Given the description of an element on the screen output the (x, y) to click on. 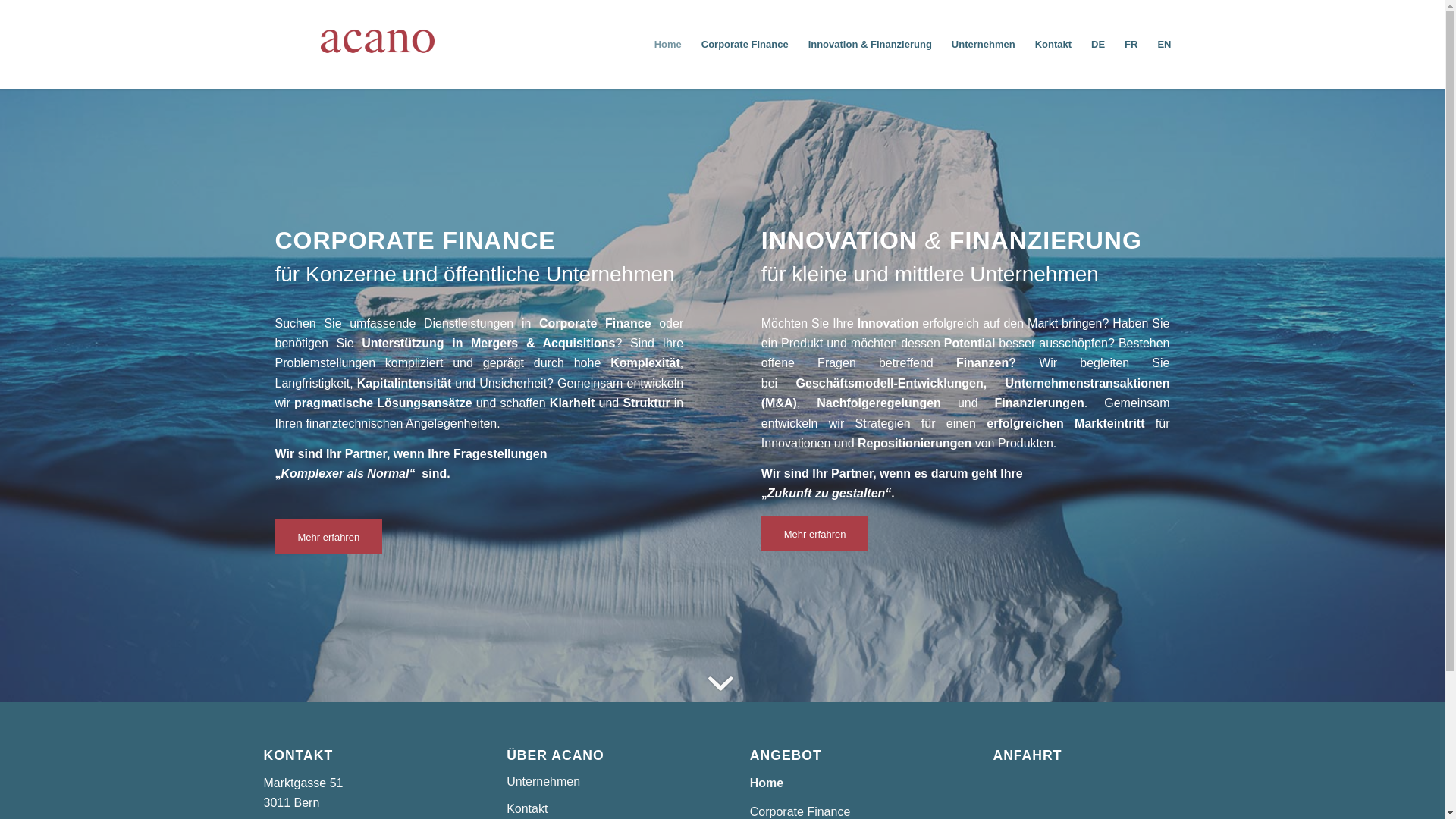
EN Element type: text (1163, 44)
Home Element type: text (843, 783)
Mehr erfahren Element type: text (328, 536)
Innovation & Finanzierung Element type: text (869, 44)
DE Element type: text (1097, 44)
Mehr erfahren Element type: text (815, 533)
Kontakt Element type: text (1053, 44)
FR Element type: text (1130, 44)
Unternehmen Element type: text (600, 781)
Unternehmen Element type: text (983, 44)
Home Element type: text (667, 44)
Corporate Finance Element type: text (744, 44)
